Given the description of an element on the screen output the (x, y) to click on. 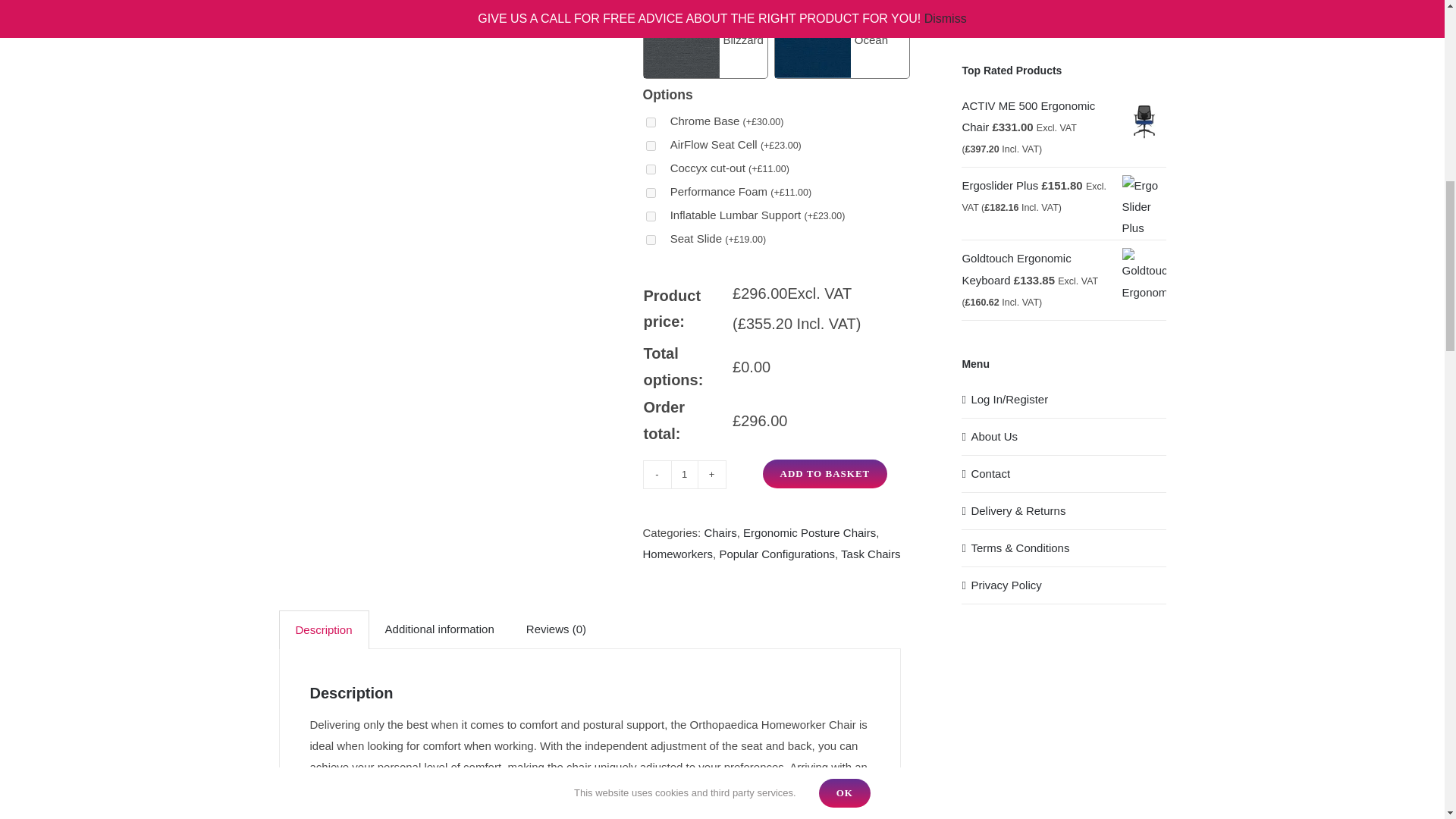
- (656, 474)
1 (683, 474)
AirFlow Seat Cell (651, 145)
Inflatable Lumbar Support (651, 216)
Seat Slide (651, 239)
Chrome Base (651, 122)
Coccyx cut-out (651, 169)
Performance Foam (651, 193)
